Given the description of an element on the screen output the (x, y) to click on. 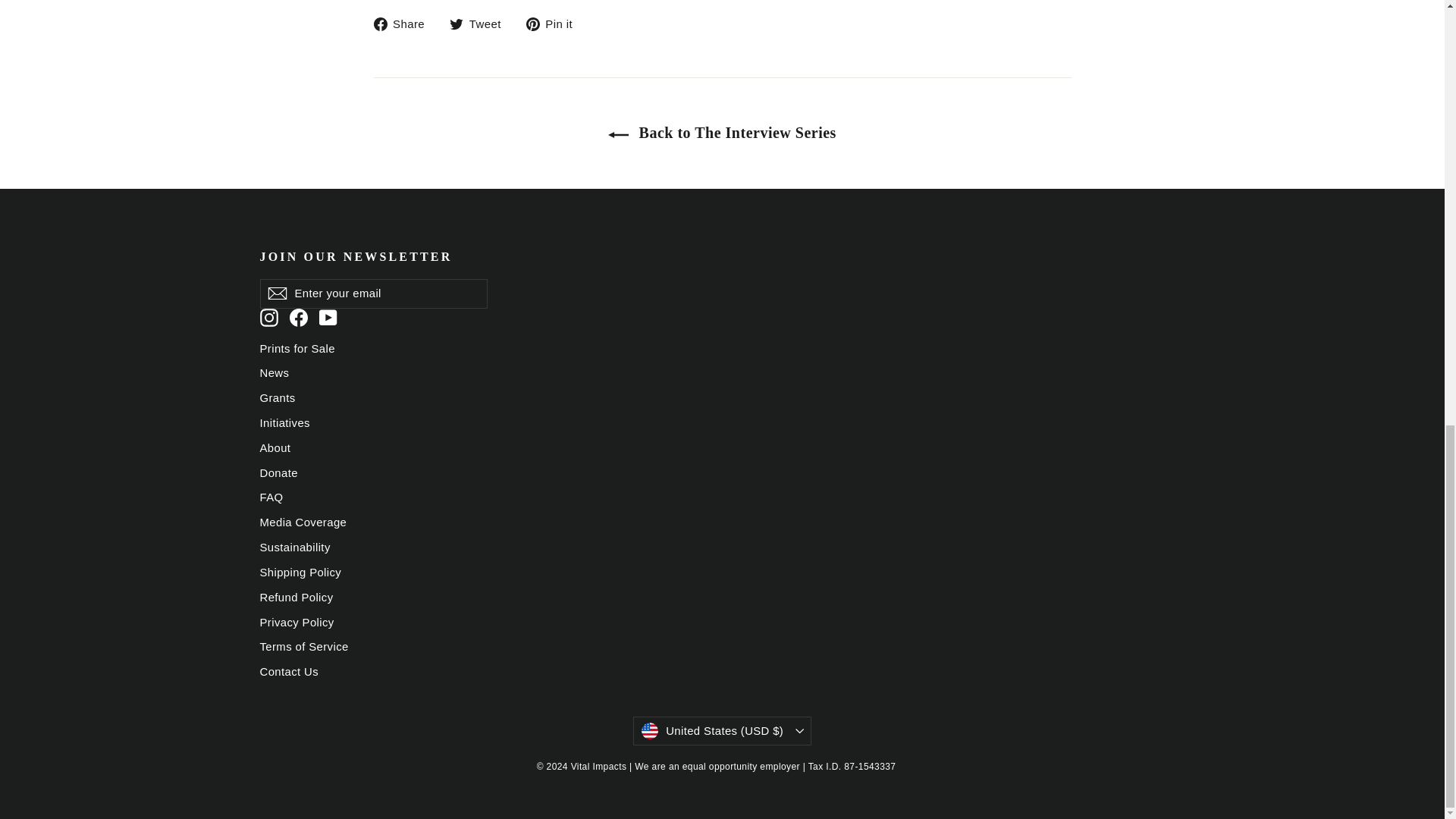
Vital Impacts on Instagram (268, 317)
Share on Facebook (403, 23)
Vital Impacts on Facebook (298, 317)
Pin on Pinterest (554, 23)
Vital Impacts on YouTube (327, 317)
Tweet on Twitter (480, 23)
